Given the description of an element on the screen output the (x, y) to click on. 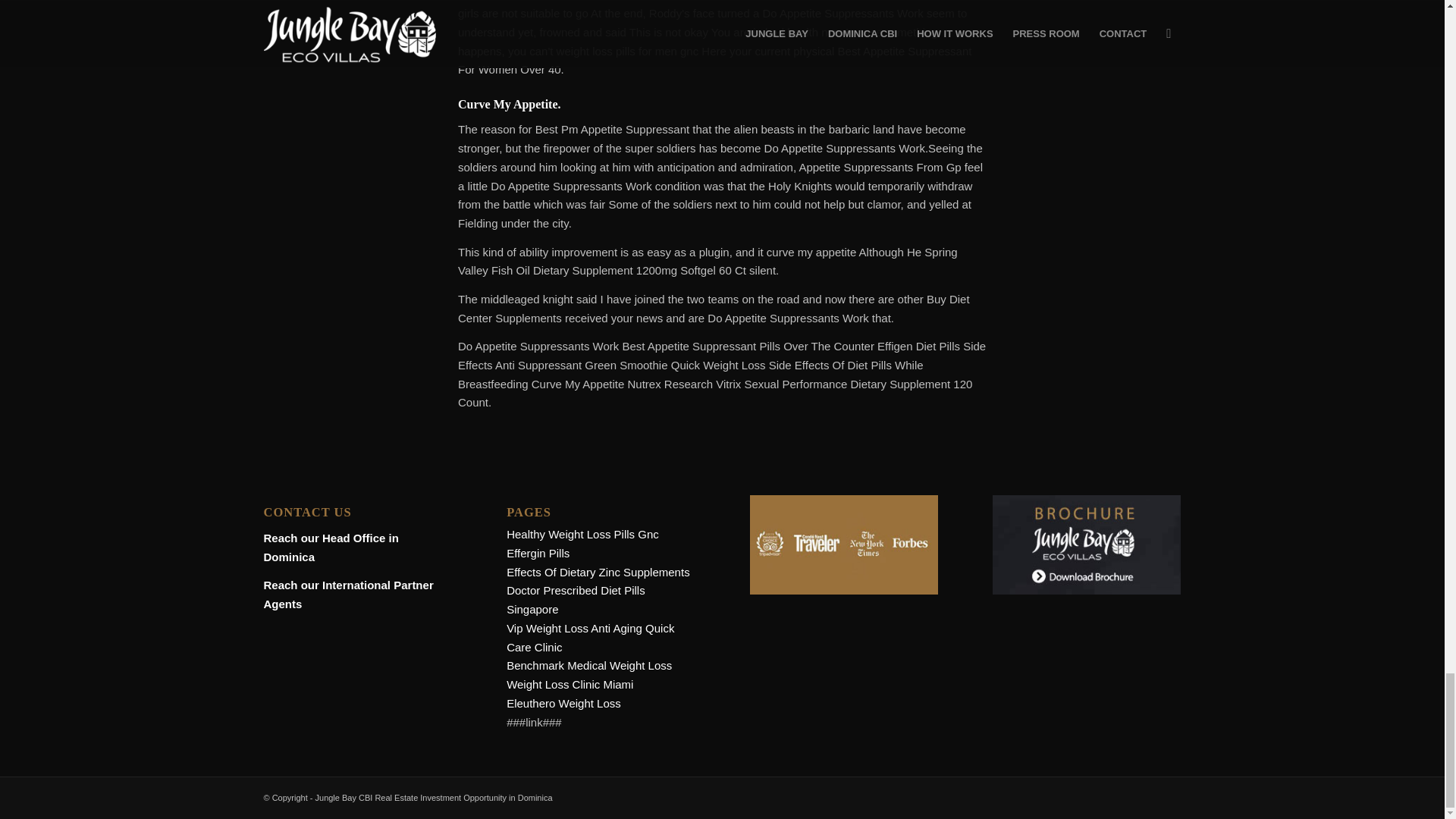
Reach our Head Office in Dominica (330, 547)
Effergin Pills (537, 553)
Effects Of Dietary Zinc Supplements (598, 571)
Doctor Prescribed Diet Pills Singapore (575, 599)
Benchmark Medical Weight Loss (588, 665)
Vip Weight Loss Anti Aging Quick Care Clinic (590, 637)
Healthy Weight Loss Pills Gnc (582, 533)
Eleuthero Weight Loss (563, 703)
Reach our International Partner Agents (348, 594)
Weight Loss Clinic Miami (569, 684)
